Given the description of an element on the screen output the (x, y) to click on. 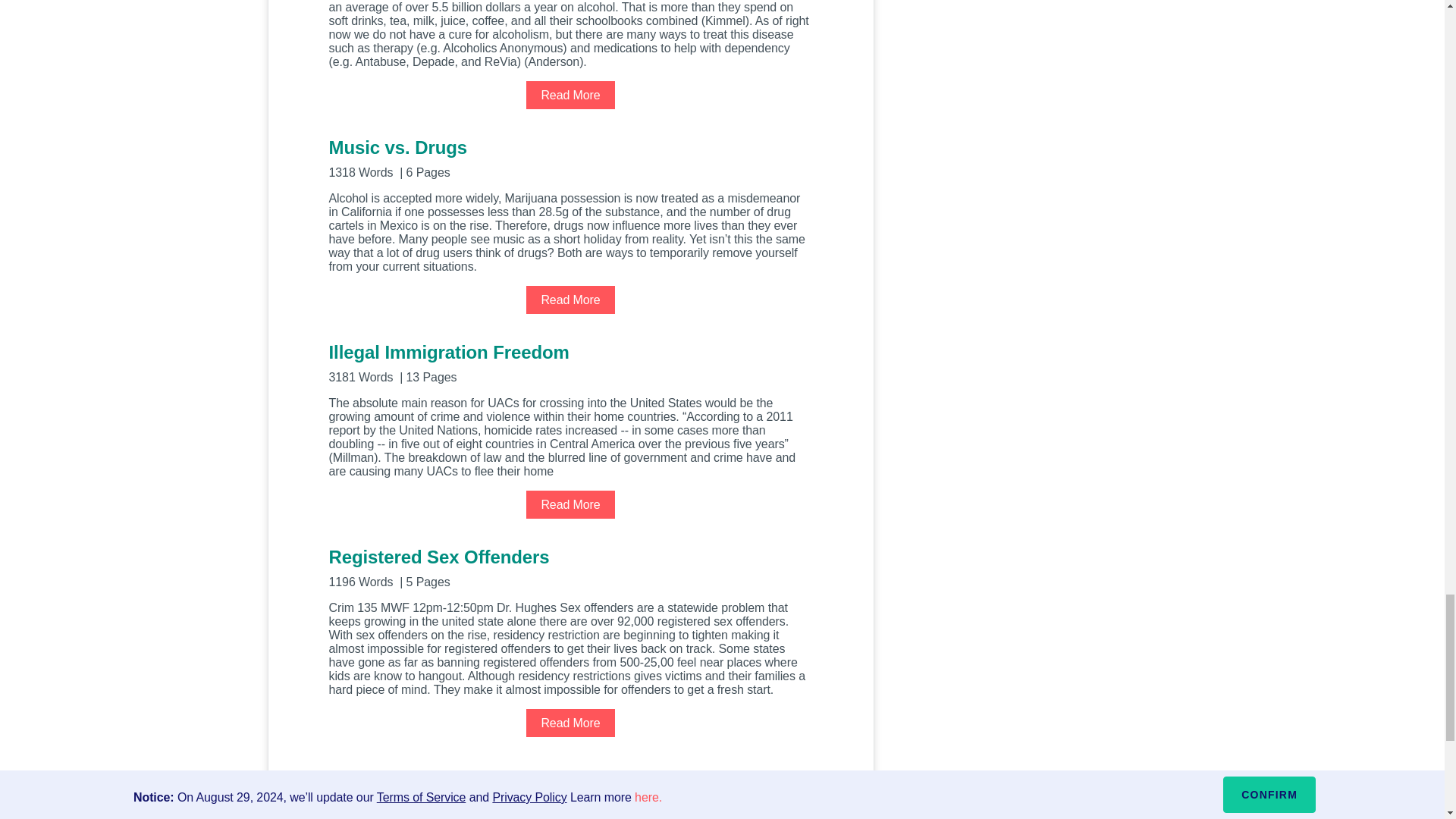
Read More (569, 299)
Read More (569, 94)
Read More (569, 504)
Registered Sex Offenders (570, 566)
Read More (569, 723)
Illegal Immigration Freedom (570, 362)
Music vs. Drugs (570, 157)
